Given the description of an element on the screen output the (x, y) to click on. 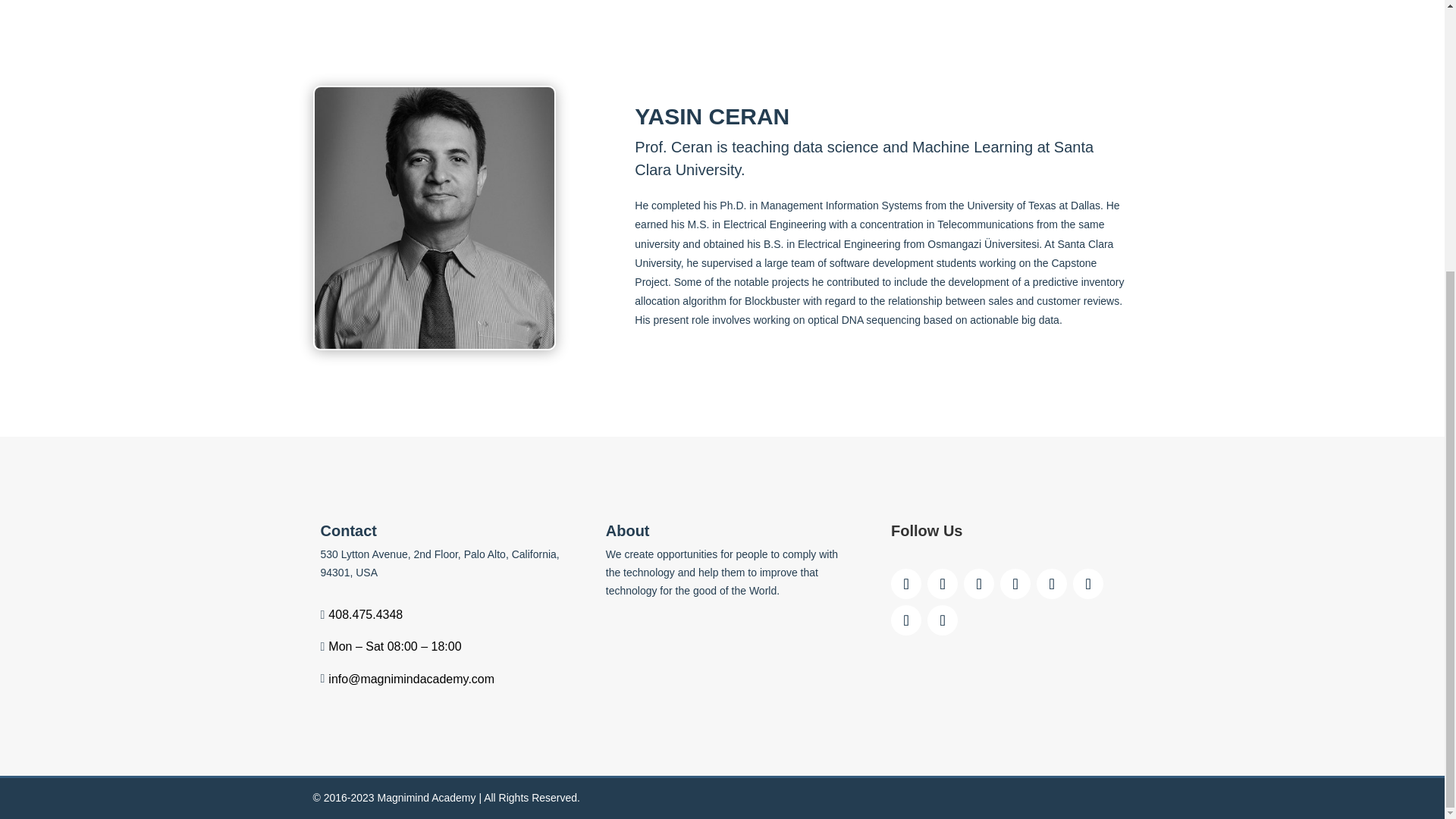
Follow on LinkedIn (1051, 583)
Follow on Twitter (942, 583)
Follow on Pinterest (942, 620)
yasin-ceran (433, 217)
Follow on Flickr (1088, 583)
Follow on tumblr (906, 620)
Follow on Instagram (978, 583)
Follow on Facebook (906, 583)
Follow on Youtube (1015, 583)
